Given the description of an element on the screen output the (x, y) to click on. 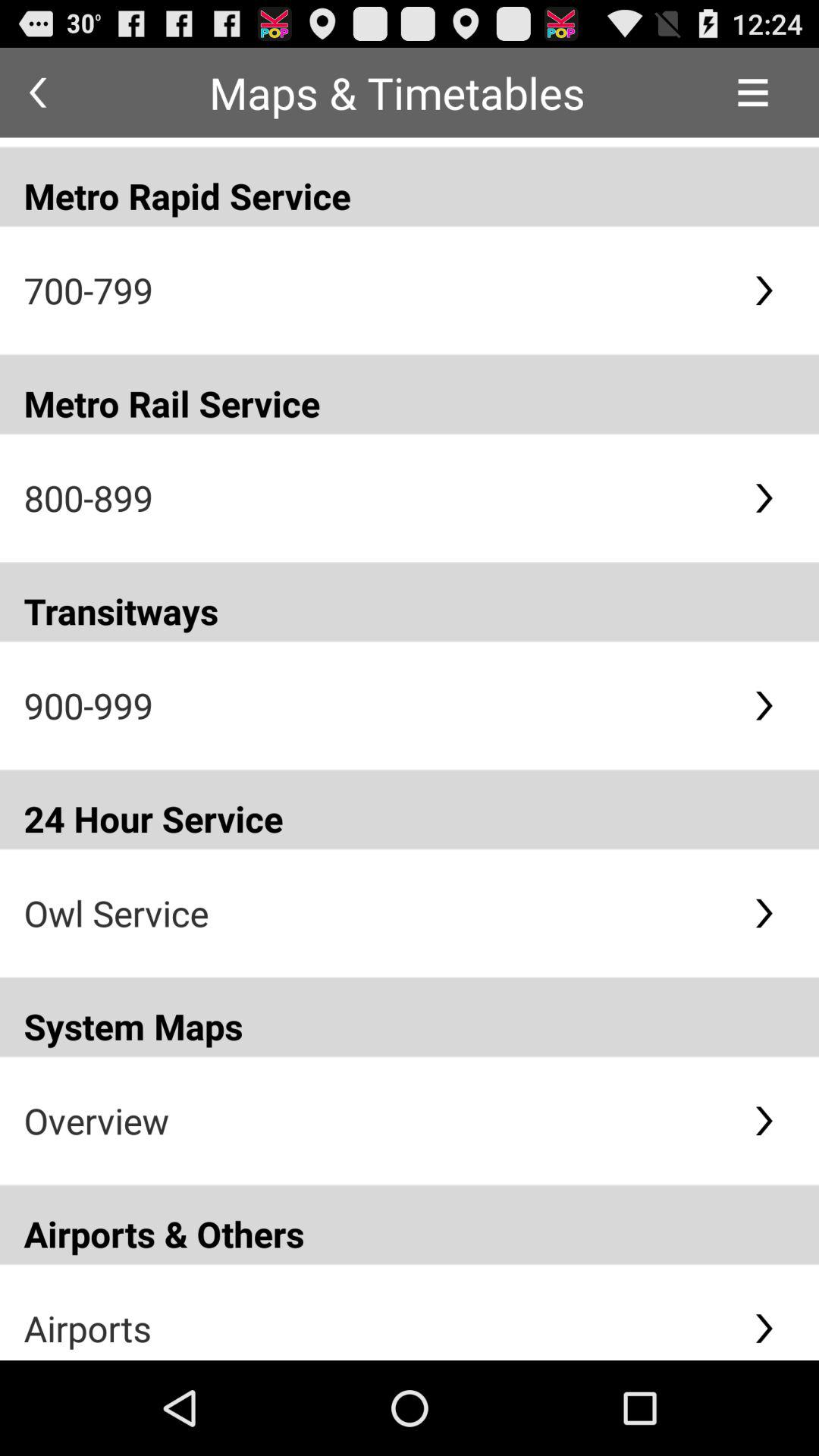
flip to the airports & others icon (409, 1224)
